Given the description of an element on the screen output the (x, y) to click on. 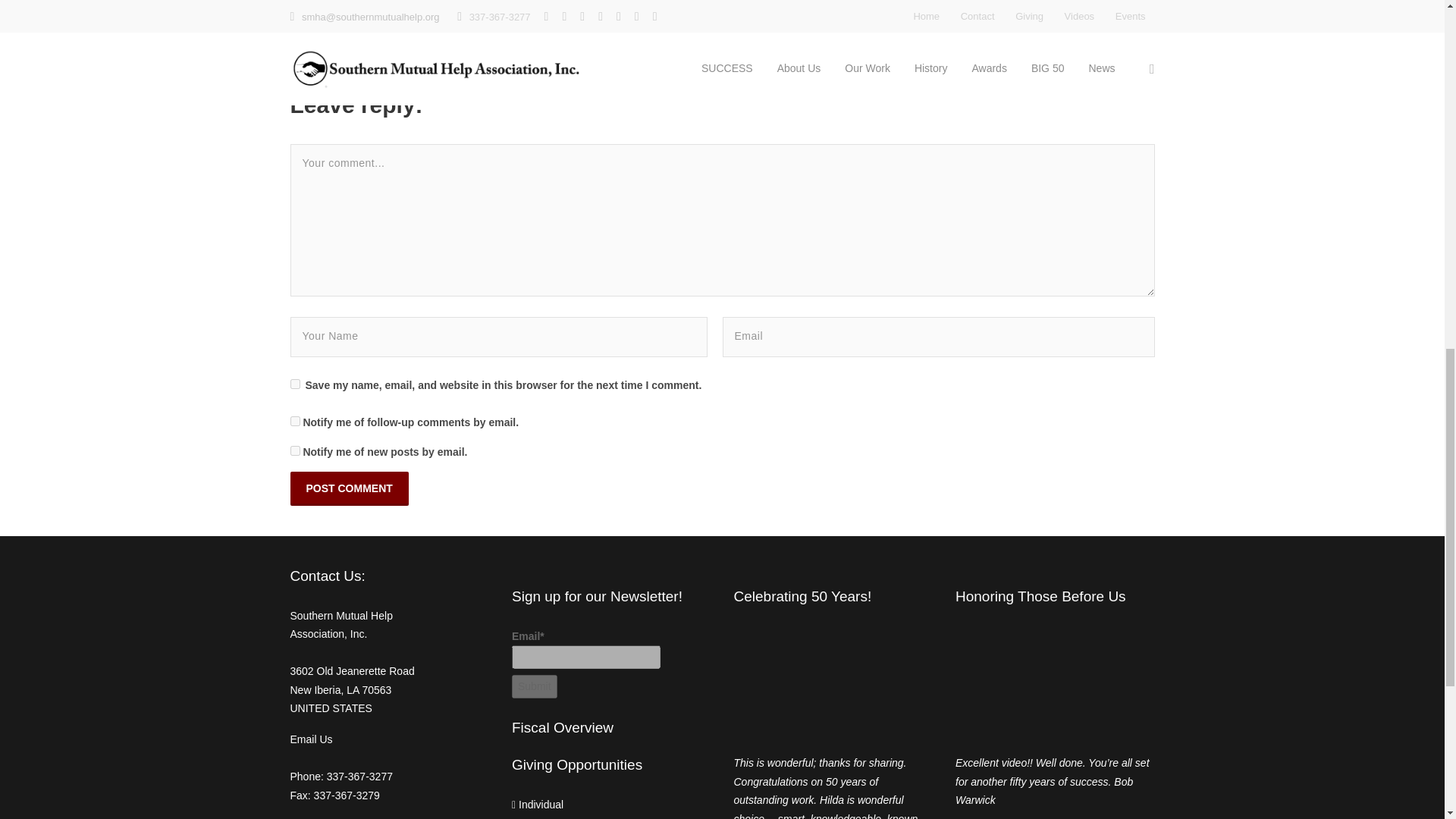
Post Comment (348, 488)
Submit (534, 686)
subscribe (294, 420)
vimeo-player (833, 684)
yes (294, 384)
subscribe (294, 450)
